Given the description of an element on the screen output the (x, y) to click on. 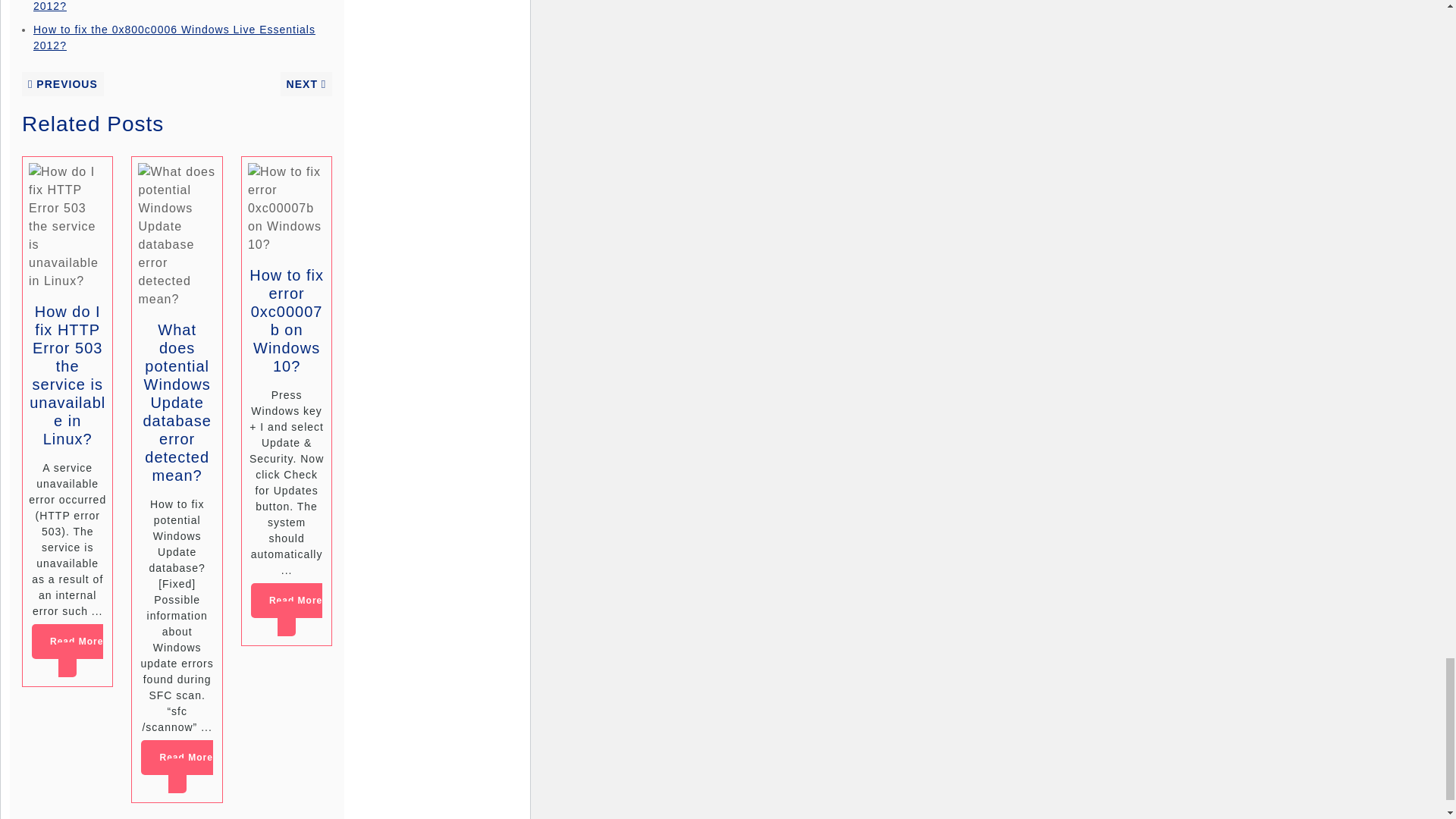
How to fix the 0x800c0006 Windows Live Essentials 2012? (174, 6)
NEXT (307, 83)
Read More (176, 766)
PREVIOUS (62, 83)
How to fix error 0xc00007b on Windows 10? (285, 320)
Read More (67, 650)
Read More (285, 609)
How to fix the 0x800c0006 Windows Live Essentials 2012? (174, 37)
